Given the description of an element on the screen output the (x, y) to click on. 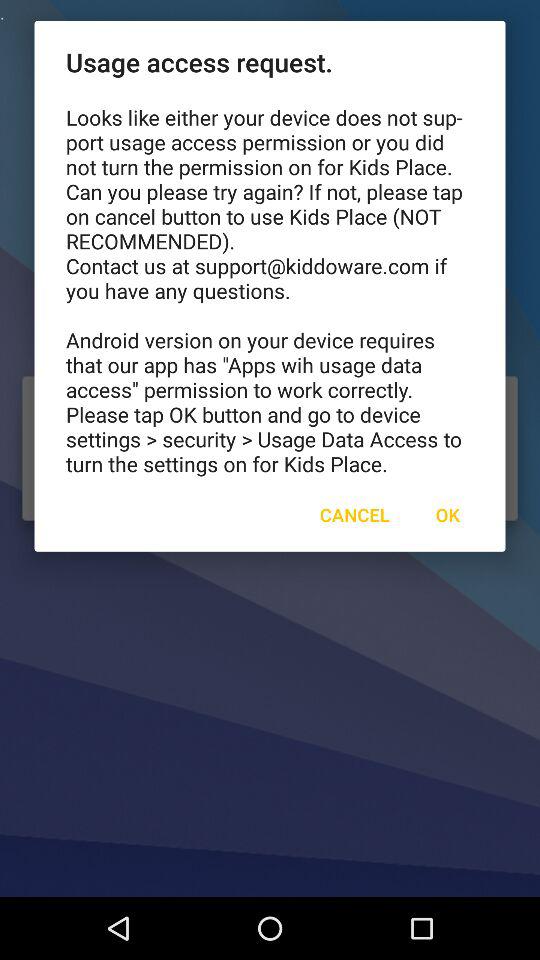
launch the item below looks like either item (354, 514)
